Given the description of an element on the screen output the (x, y) to click on. 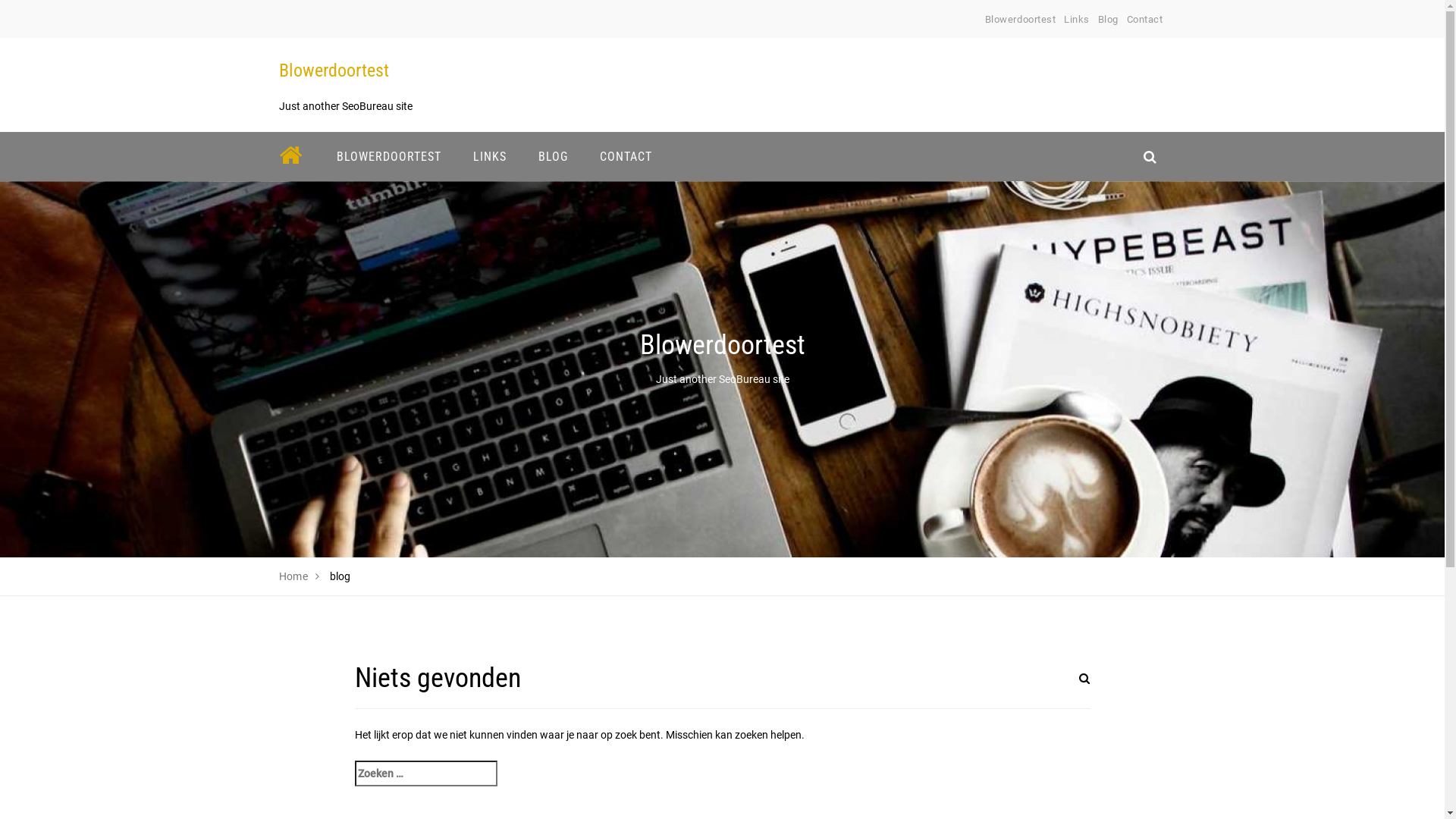
BLOG Element type: text (552, 156)
Blog Element type: text (1108, 19)
Zoeken Element type: text (1066, 687)
search_icon Element type: hover (1148, 156)
Links Element type: text (1076, 19)
BLOWERDOORTEST Element type: text (388, 156)
Blowerdoortest Element type: text (334, 70)
CONTACT Element type: text (625, 156)
Blowerdoortest Element type: text (1020, 19)
LINKS Element type: text (488, 156)
Home Element type: text (293, 576)
Contact Element type: text (1144, 19)
